Given the description of an element on the screen output the (x, y) to click on. 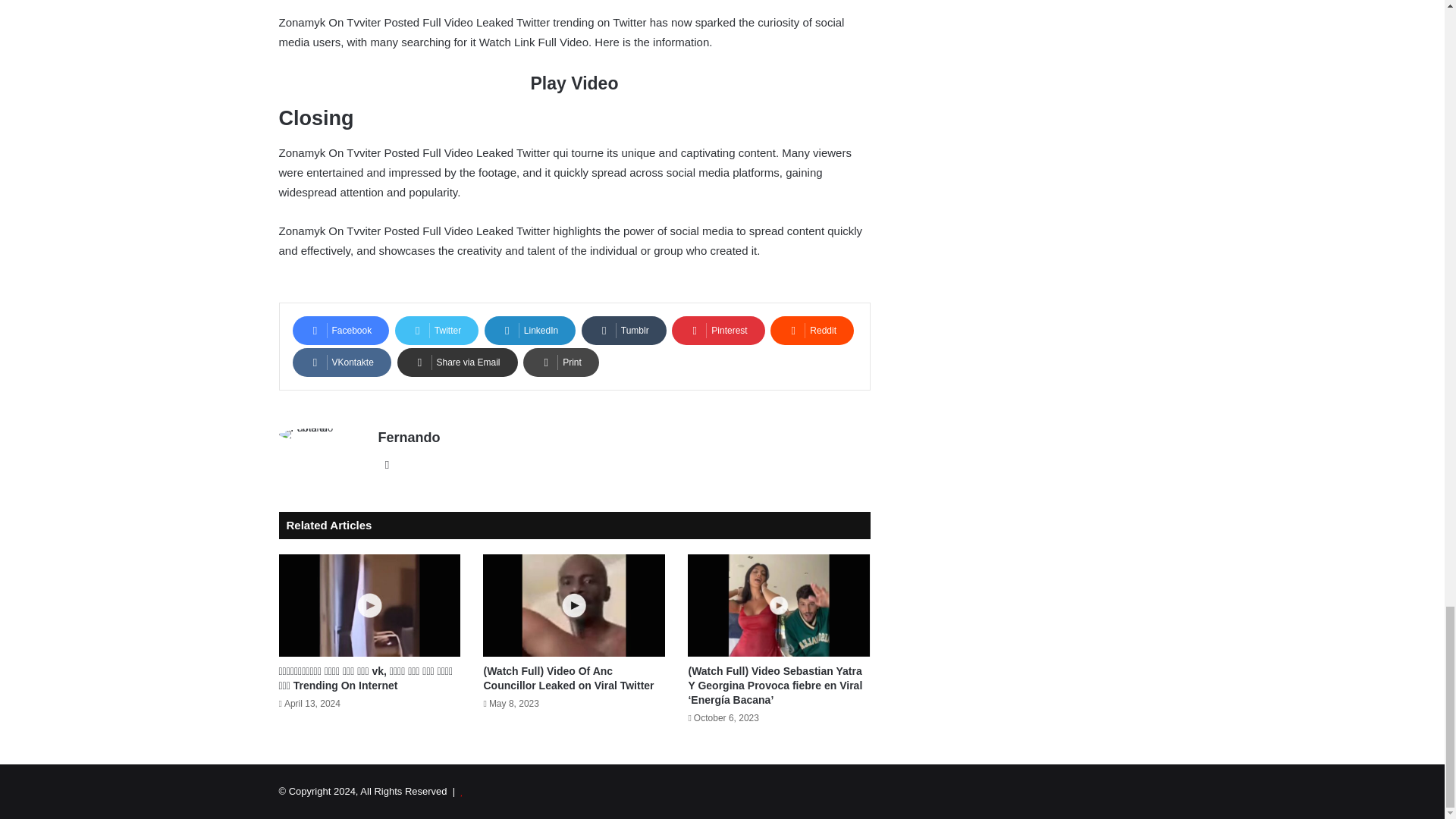
Tumblr (623, 330)
Tumblr (623, 330)
Reddit (811, 330)
LinkedIn (529, 330)
Pinterest (717, 330)
Print (560, 362)
Facebook (341, 330)
LinkedIn (529, 330)
Share via Email (457, 362)
Fernando (408, 437)
Twitter (436, 330)
Print (560, 362)
Website (386, 464)
VKontakte (341, 362)
Reddit (811, 330)
